Given the description of an element on the screen output the (x, y) to click on. 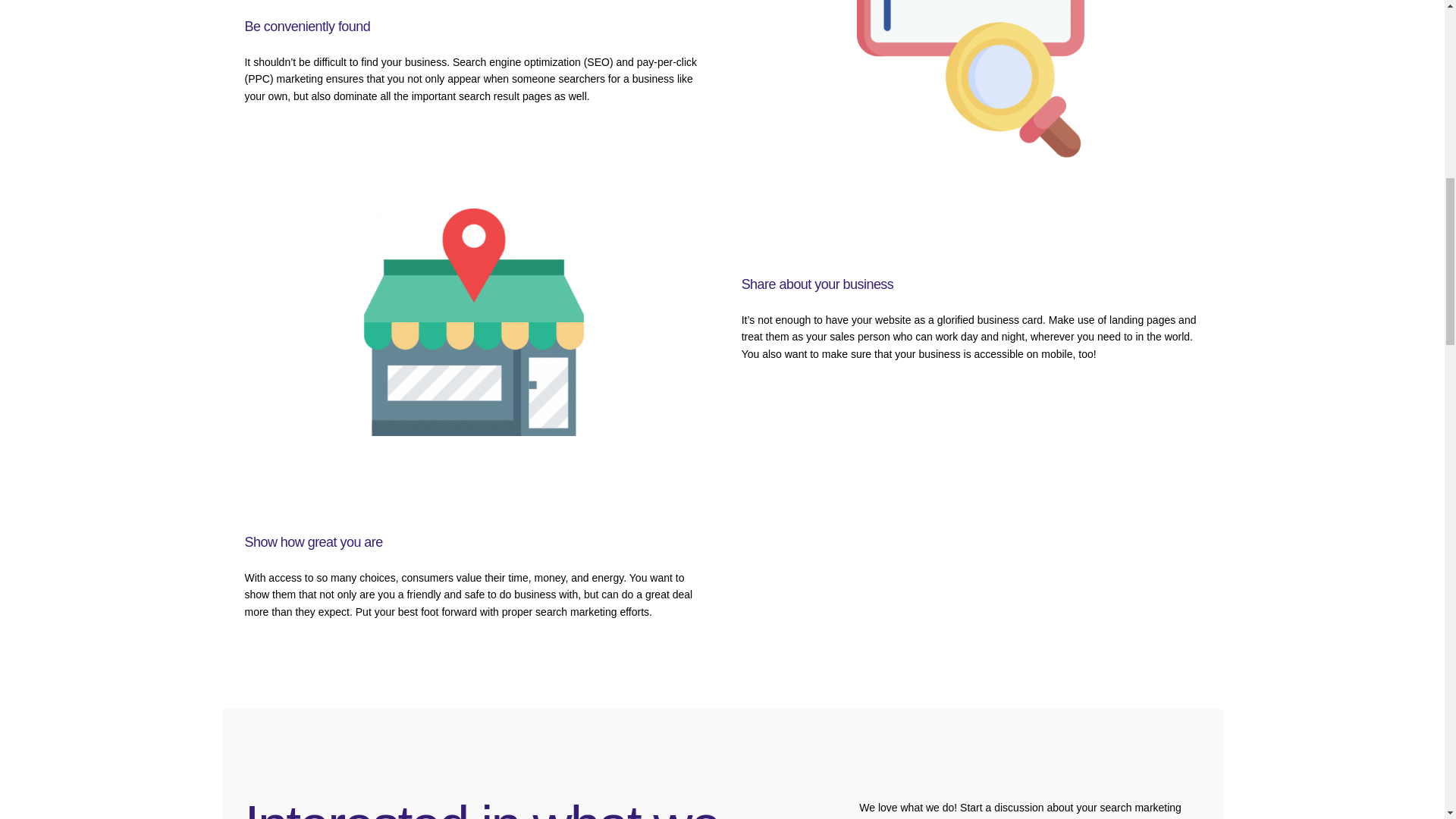
store (473, 321)
rating (970, 579)
web-search-engine (970, 89)
